Given the description of an element on the screen output the (x, y) to click on. 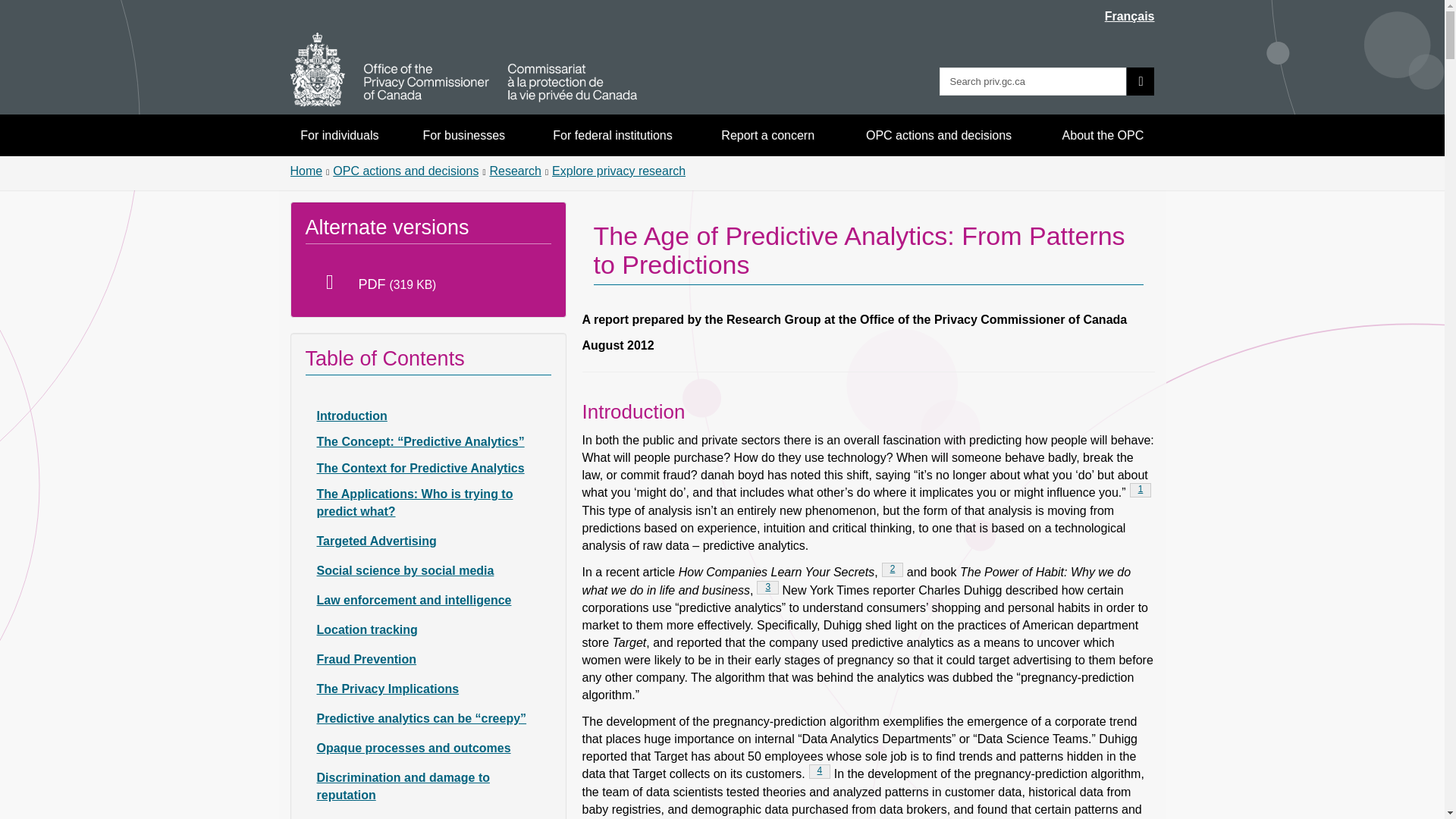
Search (1140, 81)
Research (514, 170)
Office of the Privacy Commissioner of Canada (463, 69)
Home (305, 170)
OPC actions and decisions (406, 170)
Explore privacy research (618, 170)
OPC actions and decisions (939, 135)
For businesses (463, 135)
Report a concern (768, 135)
